Given the description of an element on the screen output the (x, y) to click on. 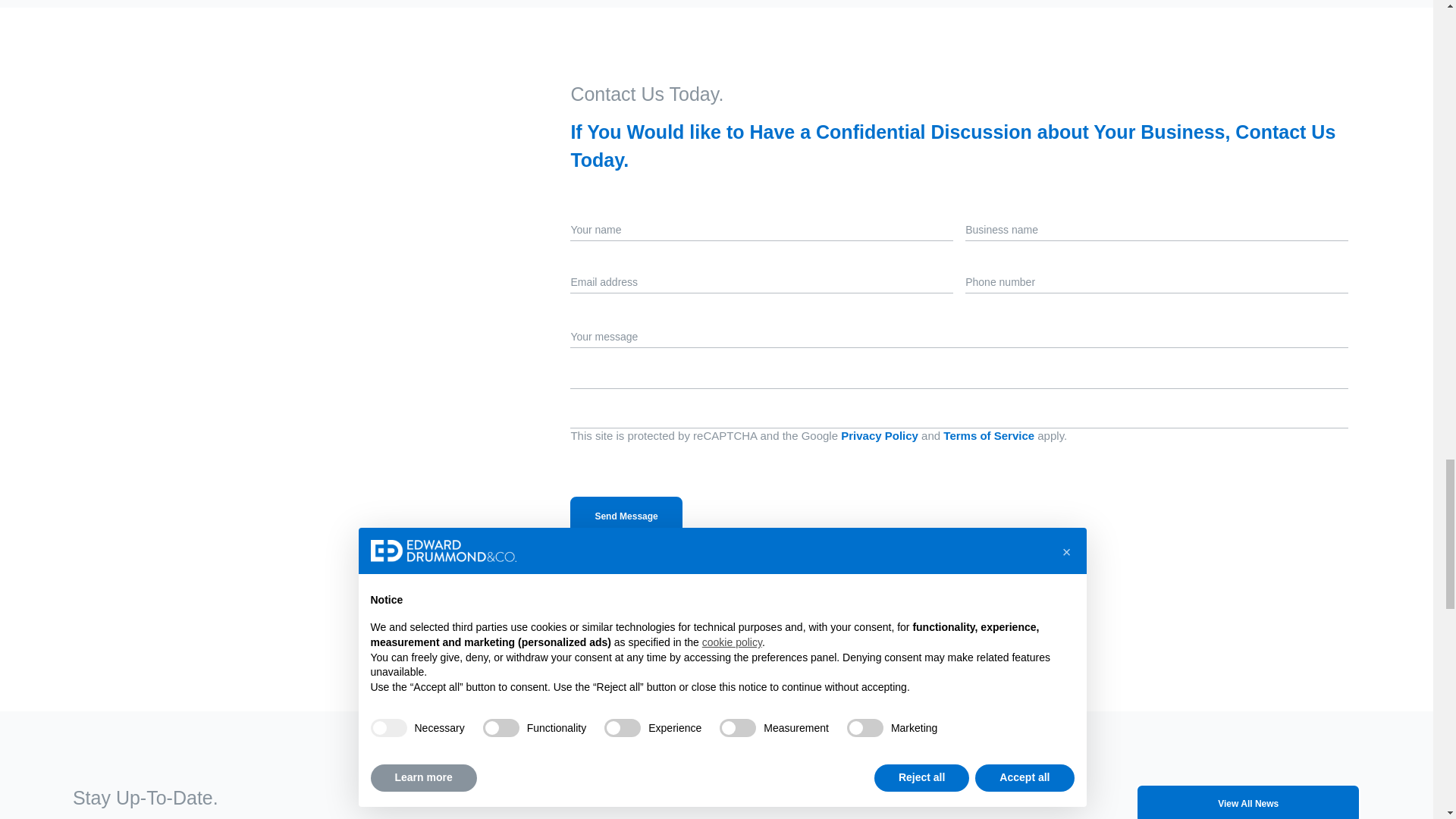
Send Message (625, 516)
